Given the description of an element on the screen output the (x, y) to click on. 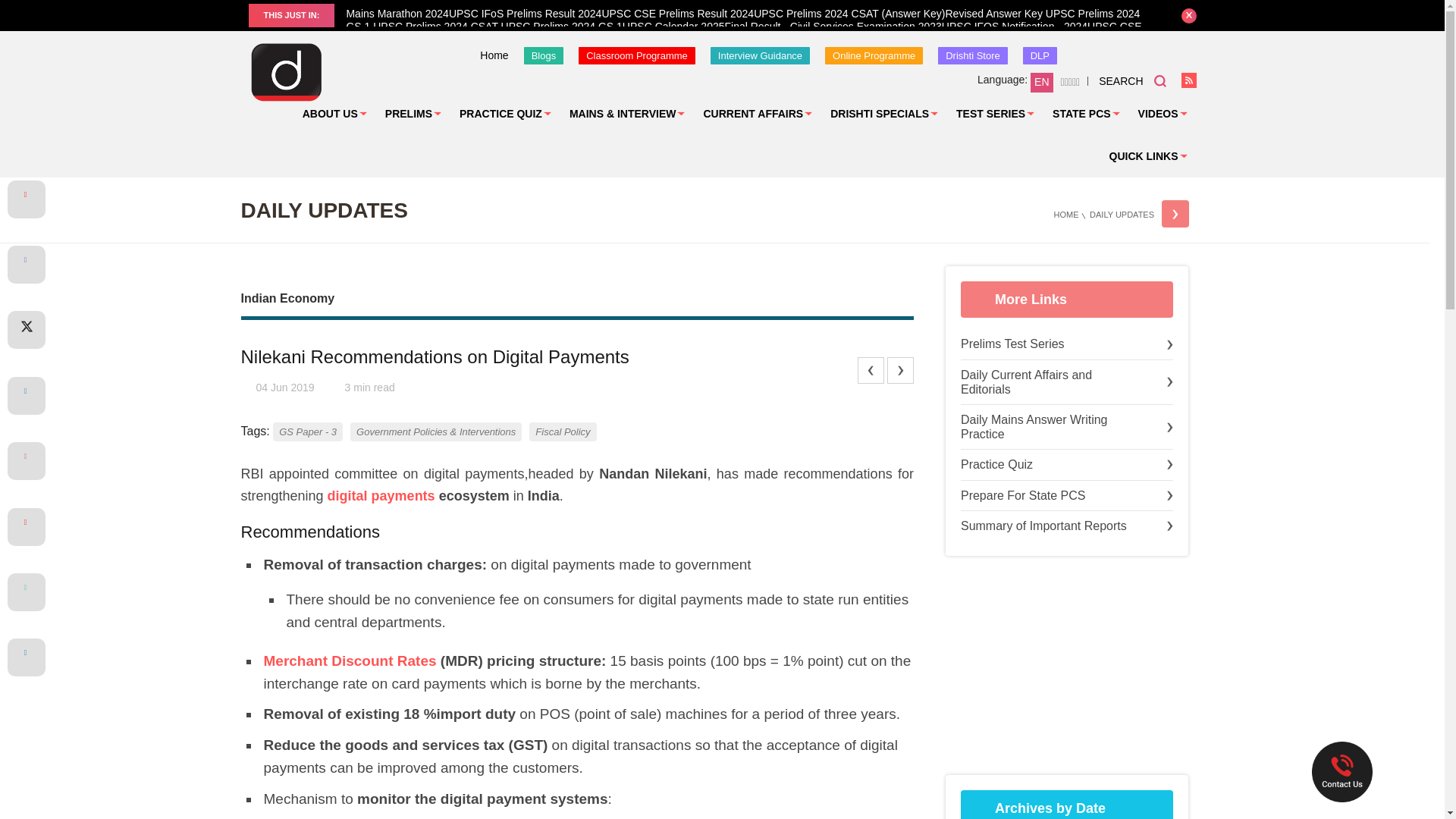
UPSC Prelims 2024 GS 1 (560, 26)
Mains Marathon 2024 (397, 13)
UPSC Calendar 2025 (674, 26)
EN (1041, 82)
SEARCH (1132, 80)
Final Result - Civil Services Examination 2023 (833, 26)
close (1188, 14)
UPSC Prelims 2024 CSAT (434, 26)
UPSC IFOS Notification - 2024 (1014, 26)
UPSC CSE Notification 2024 (743, 32)
